Given the description of an element on the screen output the (x, y) to click on. 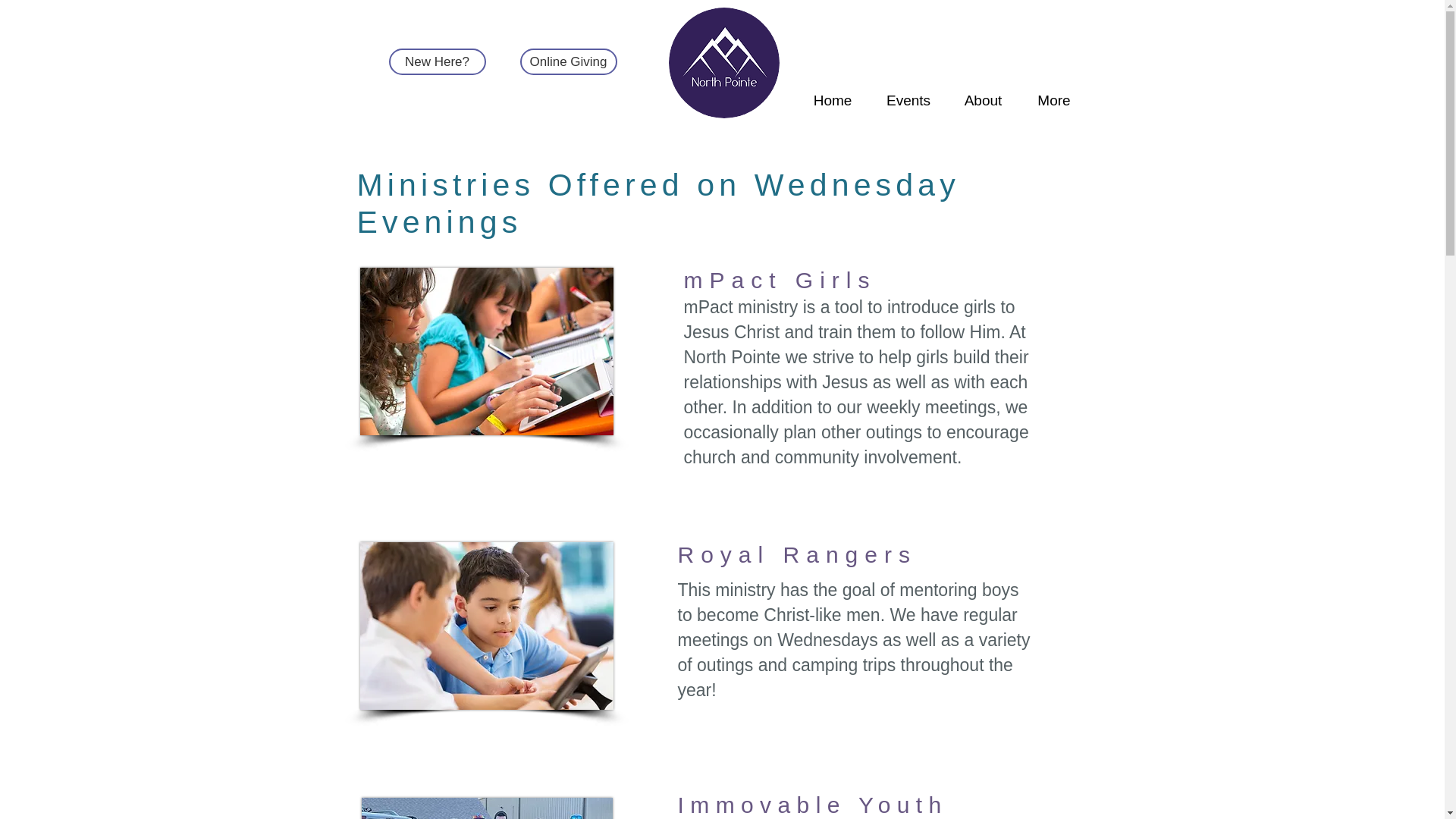
Home (831, 94)
Events (908, 94)
New Here? (436, 61)
About (982, 94)
Online Giving (568, 61)
